Given the description of an element on the screen output the (x, y) to click on. 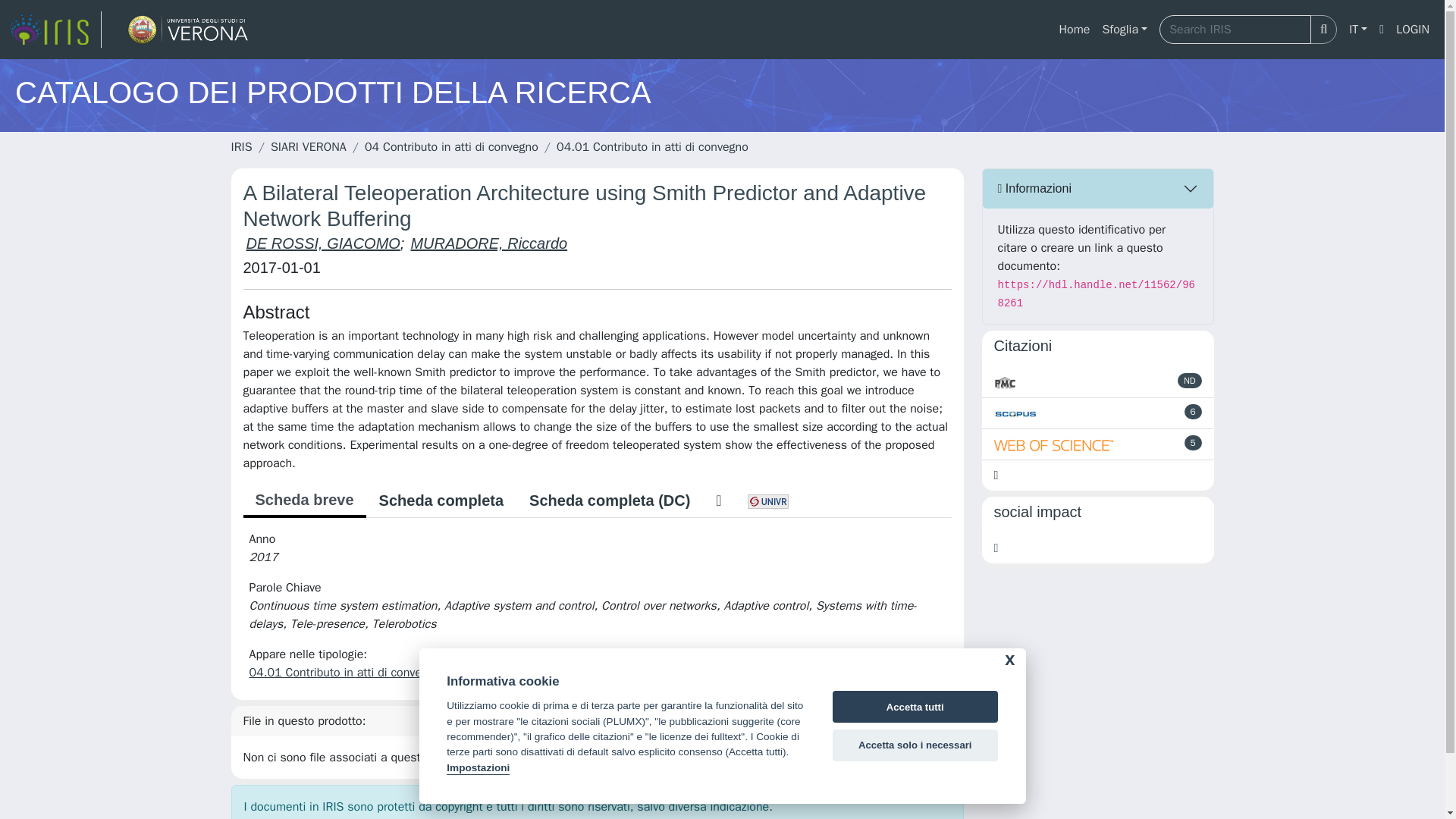
04.01 Contributo in atti di convegno (344, 672)
SIARI VERONA (308, 146)
04.01 Contributo in atti di convegno (652, 146)
IT (1357, 29)
DE ROSSI, GIACOMO (322, 243)
LOGIN (1412, 29)
04 Contributo in atti di convegno (451, 146)
 Informazioni (1097, 188)
Scheda breve (304, 500)
Sfoglia (1124, 29)
